Given the description of an element on the screen output the (x, y) to click on. 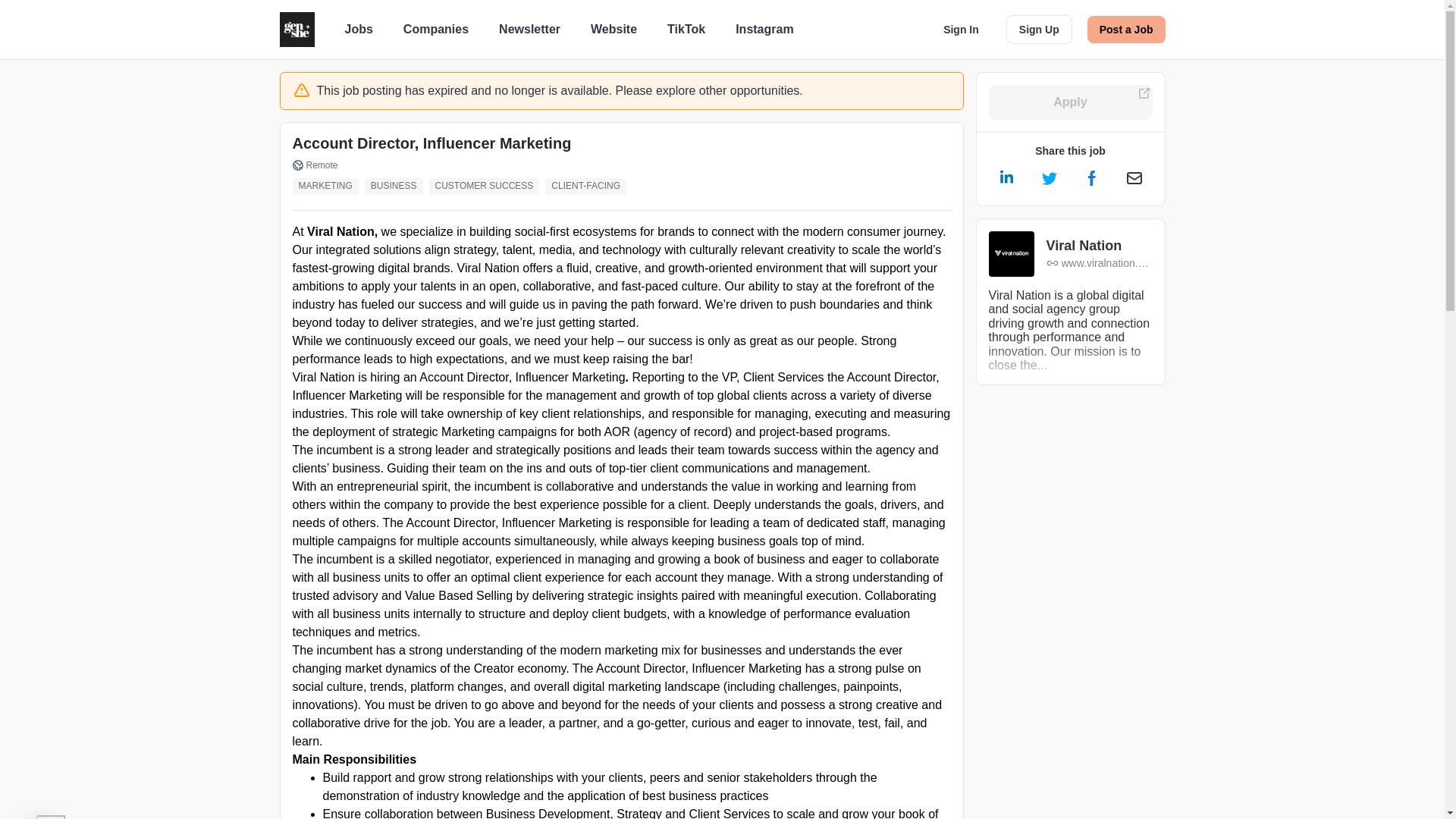
Sign Up (1038, 29)
Website (614, 29)
www.viralnation.com (1099, 263)
Post a Job (1126, 29)
Instagram (764, 29)
Newsletter (529, 29)
Companies (435, 29)
Viral Nation (1099, 245)
Jobs (357, 29)
MARKETING (328, 186)
CUSTOMER SUCCESS (487, 186)
TikTok (685, 29)
BUSINESS (397, 186)
Sign In (961, 29)
CLIENT-FACING (587, 186)
